Given the description of an element on the screen output the (x, y) to click on. 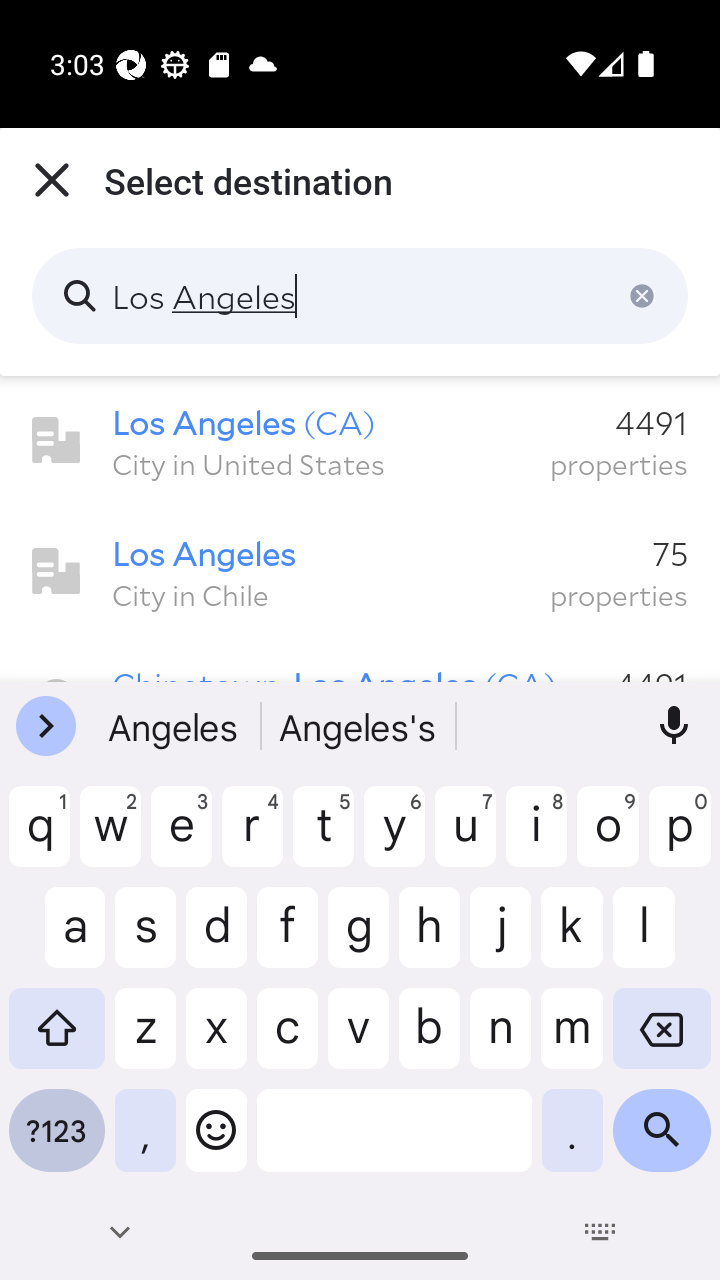
Los Angeles (359, 296)
Los Angeles 75 City in Chile properties (360, 571)
